Given the description of an element on the screen output the (x, y) to click on. 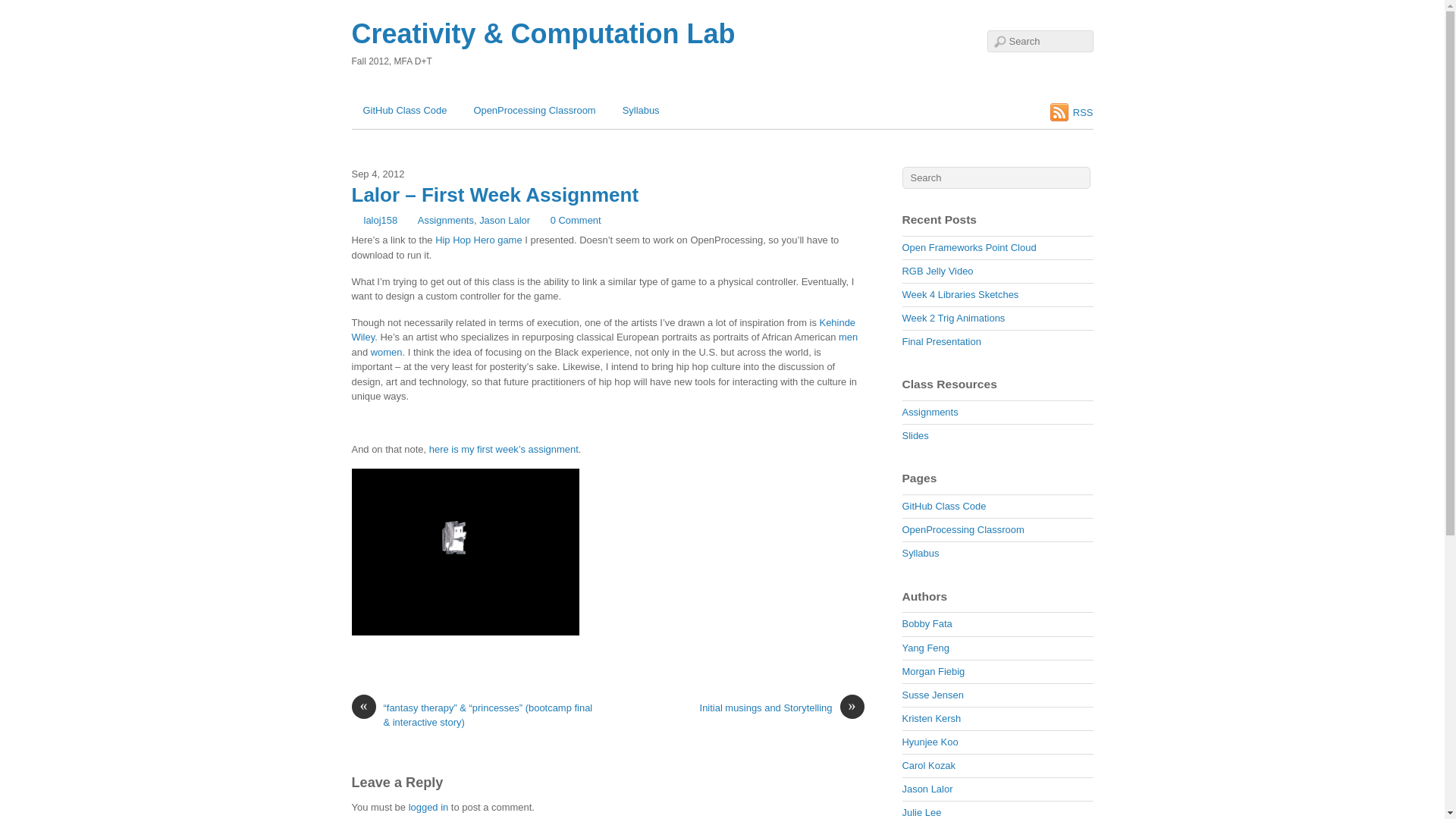
OpenProcessing Classroom (534, 110)
Slides (915, 435)
0 Comment (569, 219)
Kristen Kersh (931, 717)
Kehinde Wiley (604, 329)
women (387, 351)
Assignments (445, 220)
Final Presentation (941, 341)
Open Frameworks Point Cloud (969, 247)
men (847, 337)
OpenProcessing Classroom (963, 529)
laloj158 (380, 220)
Week 2 Trig Animations (954, 317)
Hyunjee Koo (930, 741)
Jason Lalor (927, 788)
